Given the description of an element on the screen output the (x, y) to click on. 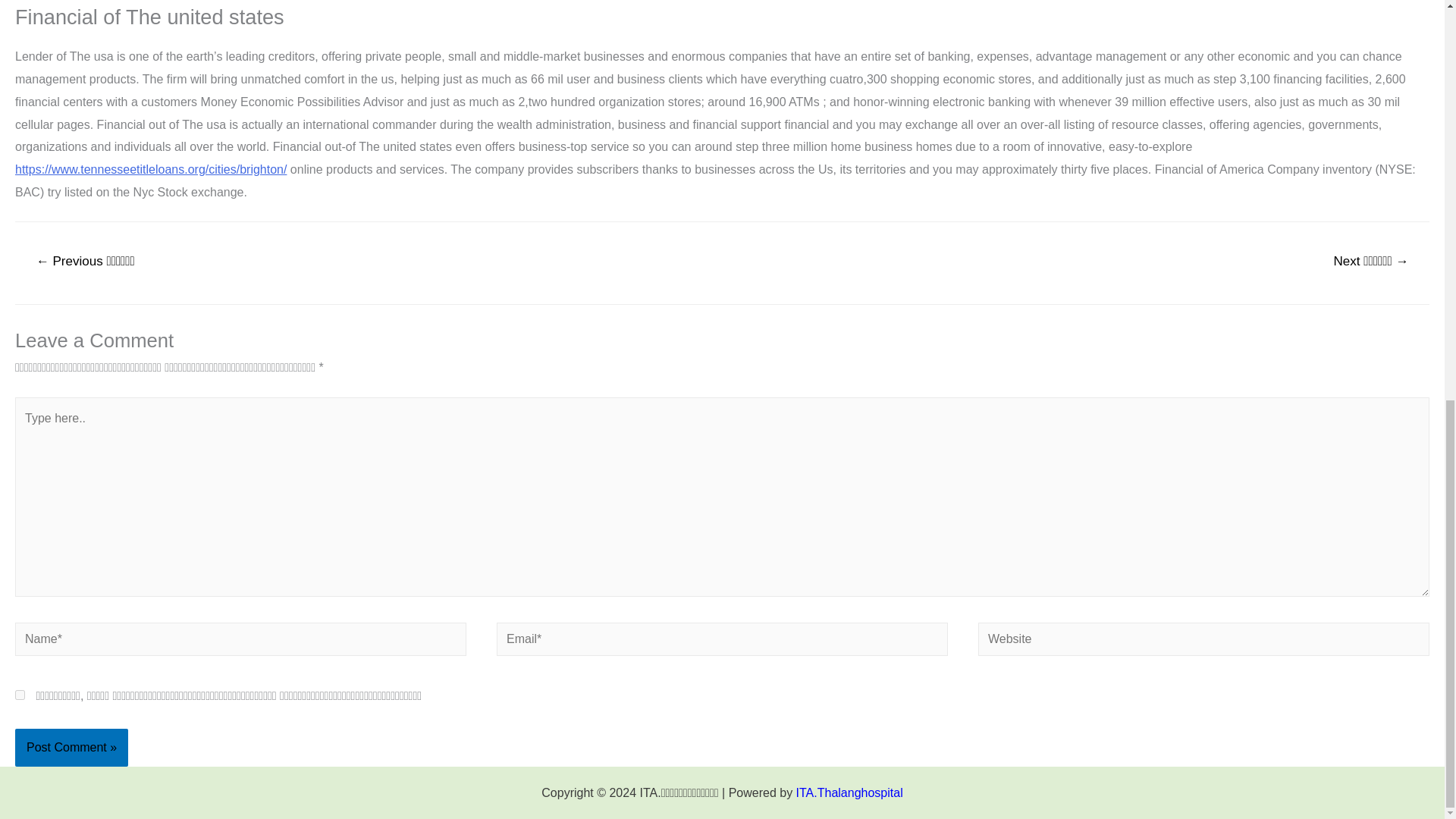
yes (19, 695)
